Given the description of an element on the screen output the (x, y) to click on. 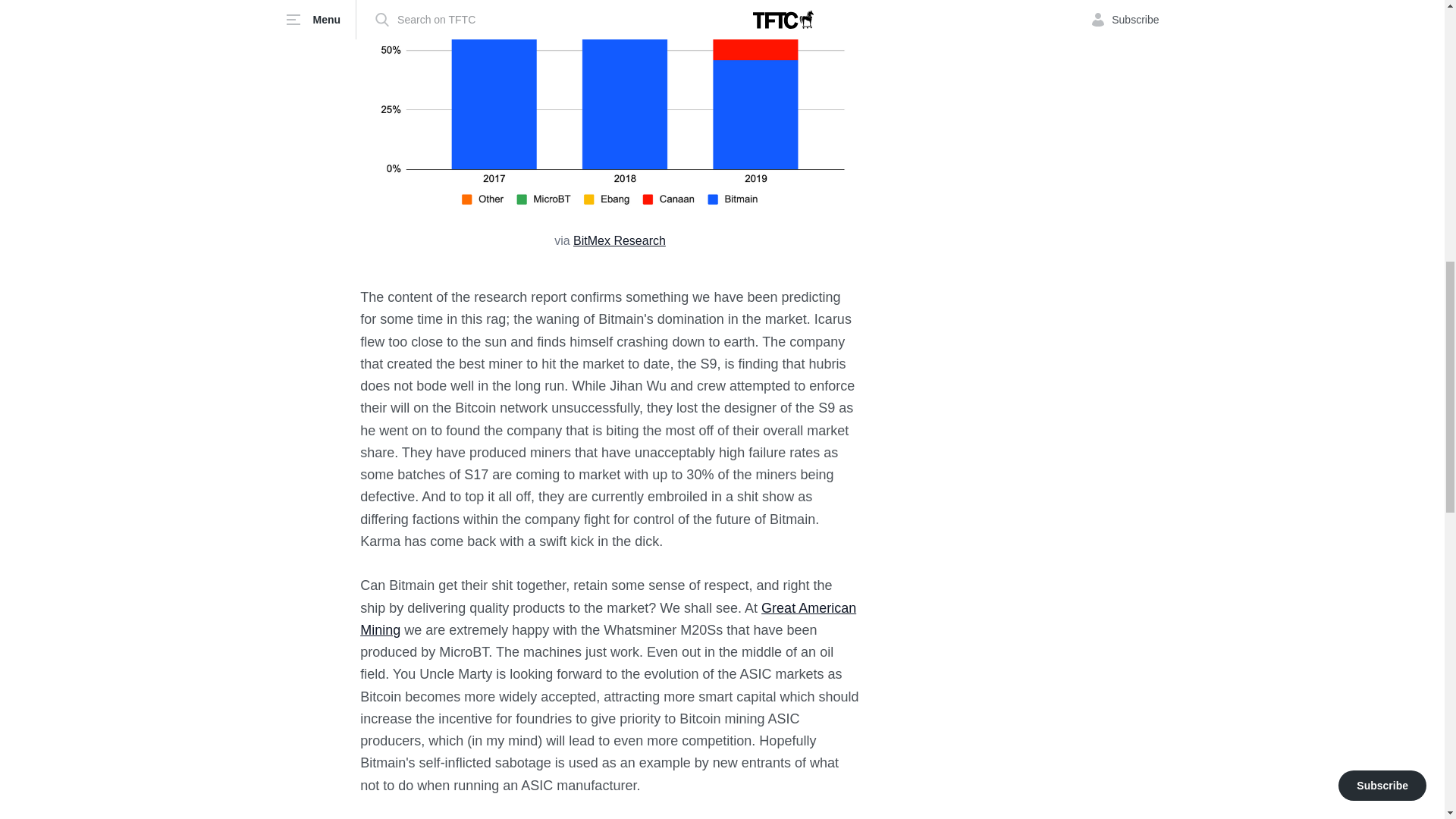
Great American Mining (607, 619)
BitMex Research (619, 240)
